Given the description of an element on the screen output the (x, y) to click on. 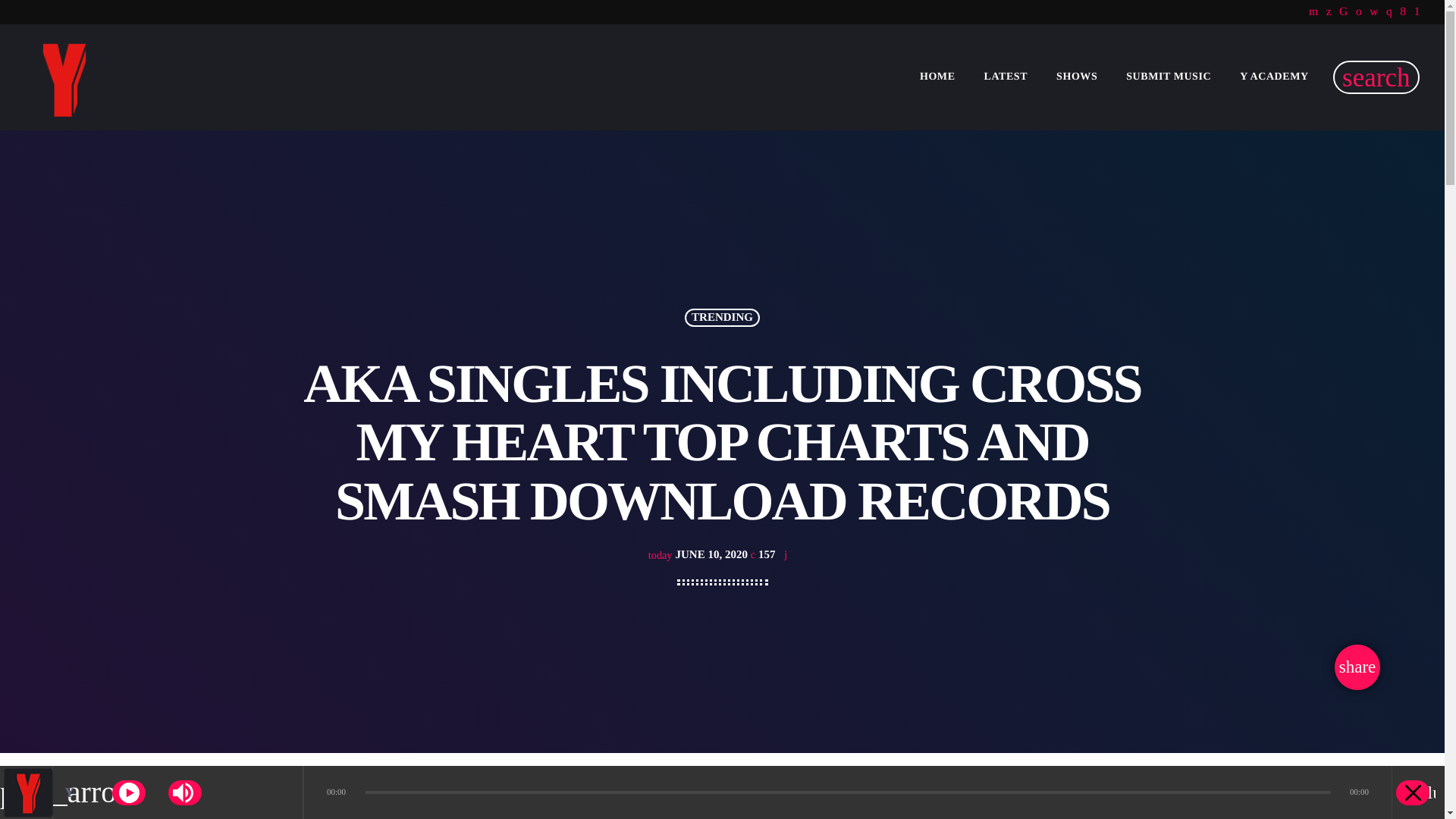
HOME (937, 77)
SHOWS (1077, 77)
search (1376, 77)
Play (128, 791)
SUBMIT MUSIC (1168, 77)
Minimize Player (1412, 791)
Y ACADEMY (1273, 77)
LATEST (1005, 77)
